Given the description of an element on the screen output the (x, y) to click on. 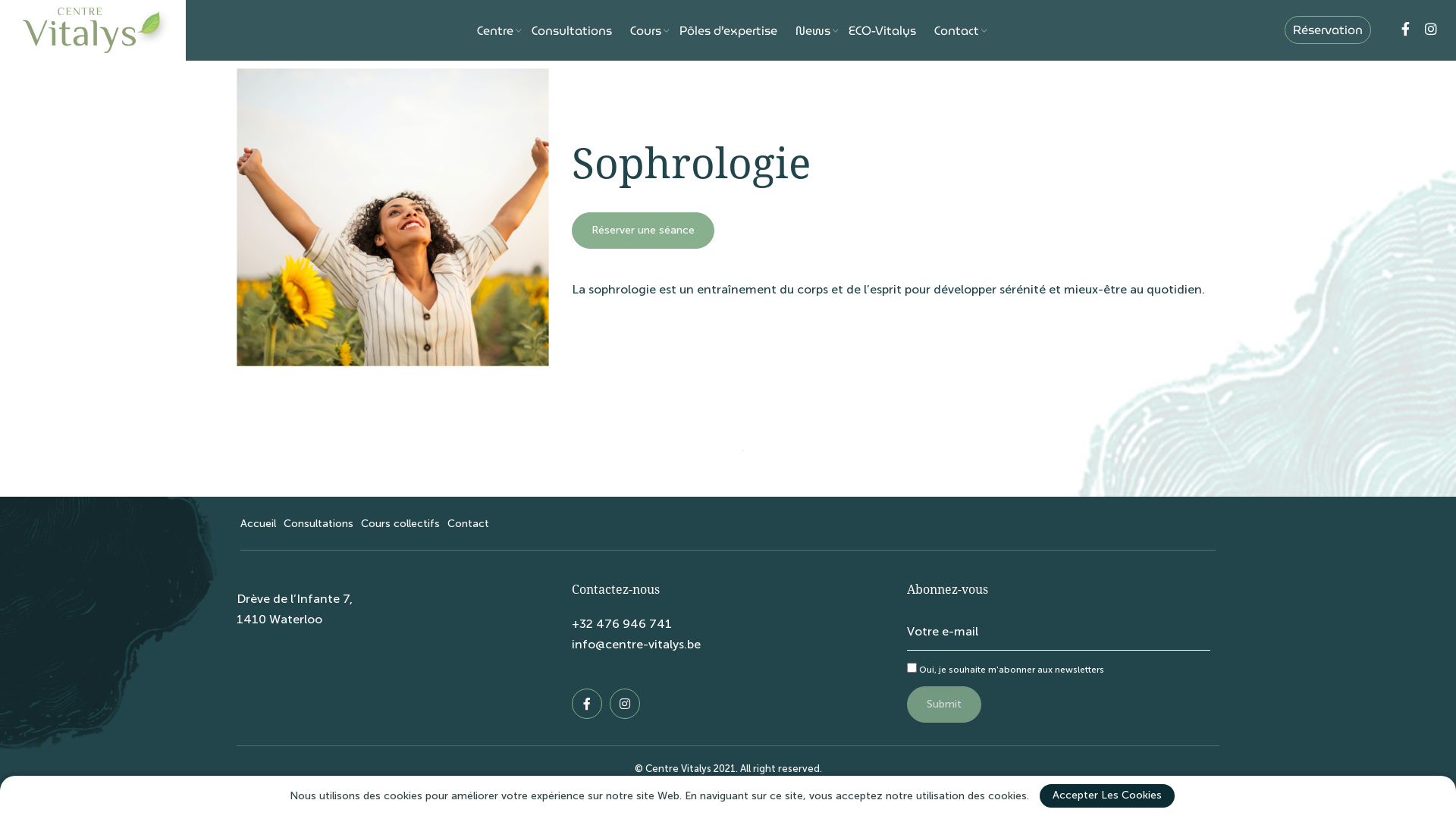
News Element type: text (812, 29)
Accueil Element type: text (258, 523)
Submit Element type: text (943, 704)
Consultations Element type: text (318, 523)
Contact Element type: text (956, 29)
Cours collectifs Element type: text (399, 523)
Centre Element type: text (494, 29)
Contact Element type: text (468, 523)
Consultations Element type: text (571, 29)
ECO-Vitalys Element type: text (882, 29)
Cours Element type: text (645, 29)
+32 476 946 741 Element type: text (621, 623)
info@centre-vitalys.be Element type: text (635, 644)
relax sophro Element type: hover (392, 217)
Accepter Les Cookies Element type: text (1105, 795)
